Given the description of an element on the screen output the (x, y) to click on. 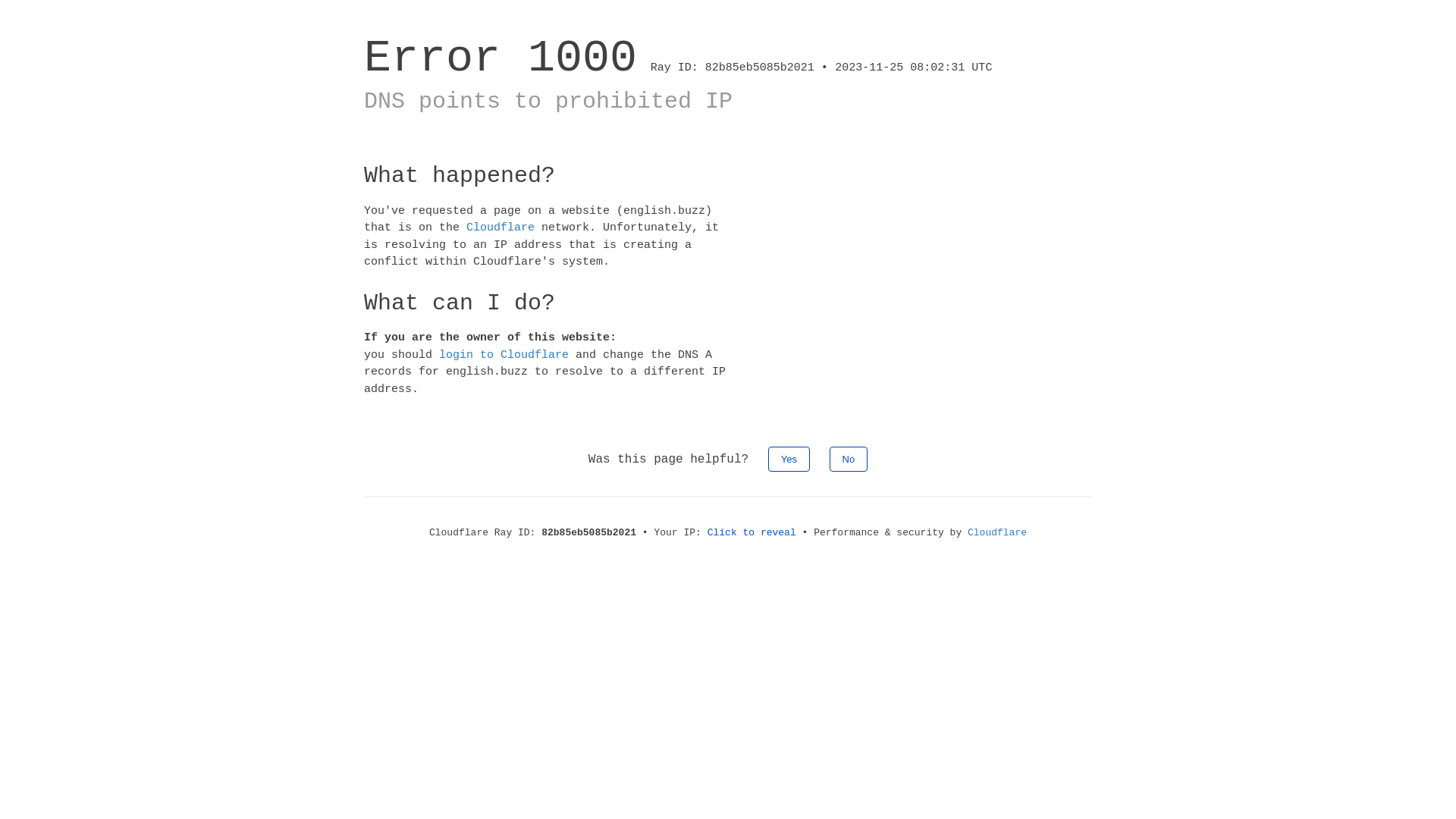
Cloudflare Element type: text (996, 532)
Yes Element type: text (788, 458)
No Element type: text (848, 458)
Cloudflare Element type: text (500, 227)
Click to reveal Element type: text (751, 532)
login to Cloudflare Element type: text (503, 354)
